Given the description of an element on the screen output the (x, y) to click on. 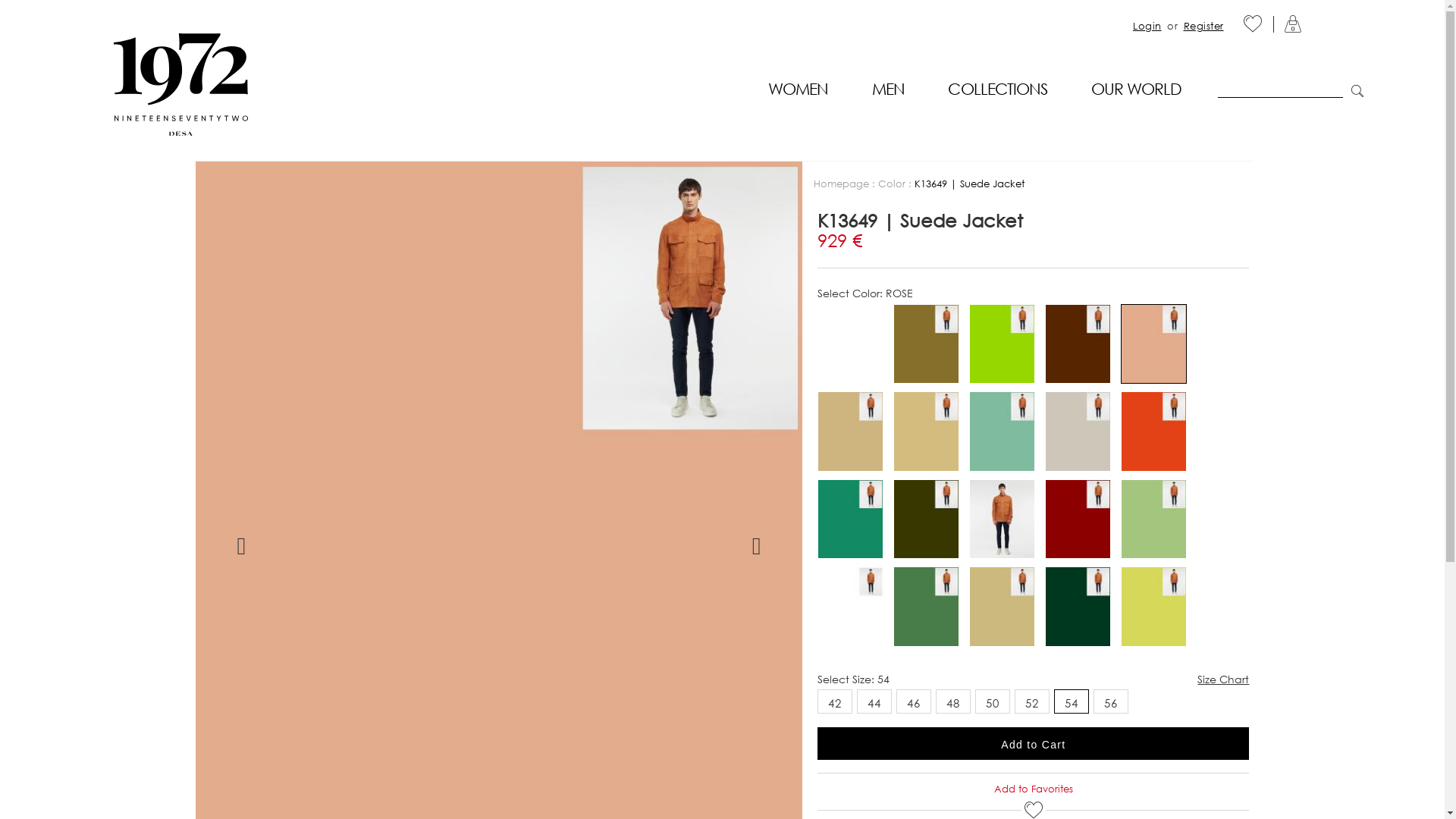
50 Element type: text (992, 701)
52 Element type: text (1031, 701)
46 Element type: text (913, 701)
Add to Cart Element type: text (1032, 743)
MEN Element type: text (888, 90)
OUR WORLD Element type: text (1136, 90)
42 Element type: text (834, 701)
Homepage Element type: text (841, 183)
COLLECTIONS Element type: text (997, 90)
Size Chart Element type: text (1222, 679)
54 Element type: text (1071, 701)
WOMEN Element type: text (798, 90)
48 Element type: text (952, 701)
Login Element type: text (1146, 25)
Register Element type: text (1203, 25)
44 Element type: text (873, 701)
56 Element type: text (1110, 701)
Color Element type: text (891, 183)
